Given the description of an element on the screen output the (x, y) to click on. 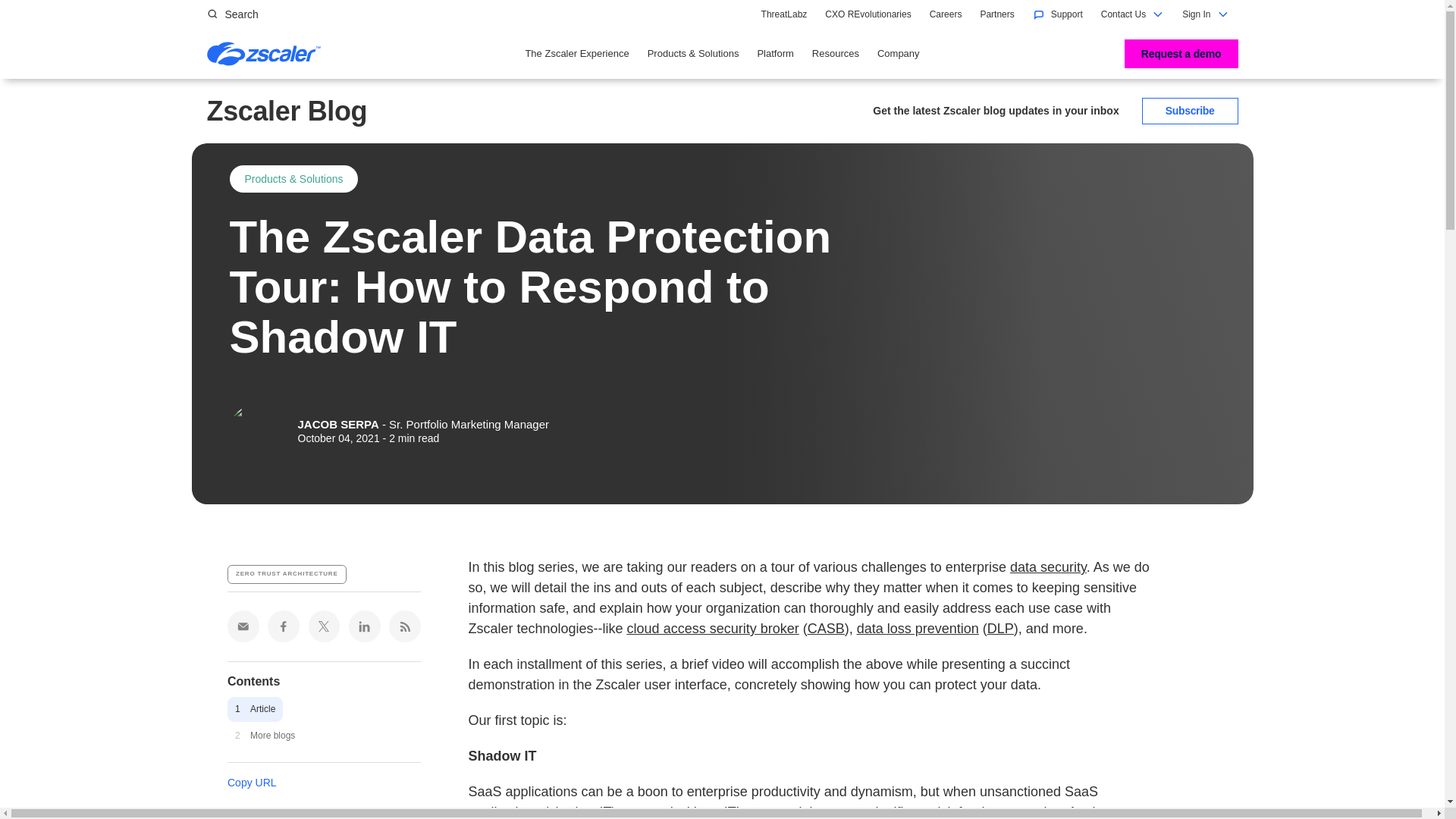
Share on linkedin (364, 626)
Share on facebook (283, 626)
Support (1057, 13)
Partners (996, 13)
Check feeds (404, 626)
ThreatLabz (784, 13)
Tweet (324, 626)
The Zscaler Experience (576, 53)
Platform (775, 53)
CXO REvolutionaries (868, 13)
